Given the description of an element on the screen output the (x, y) to click on. 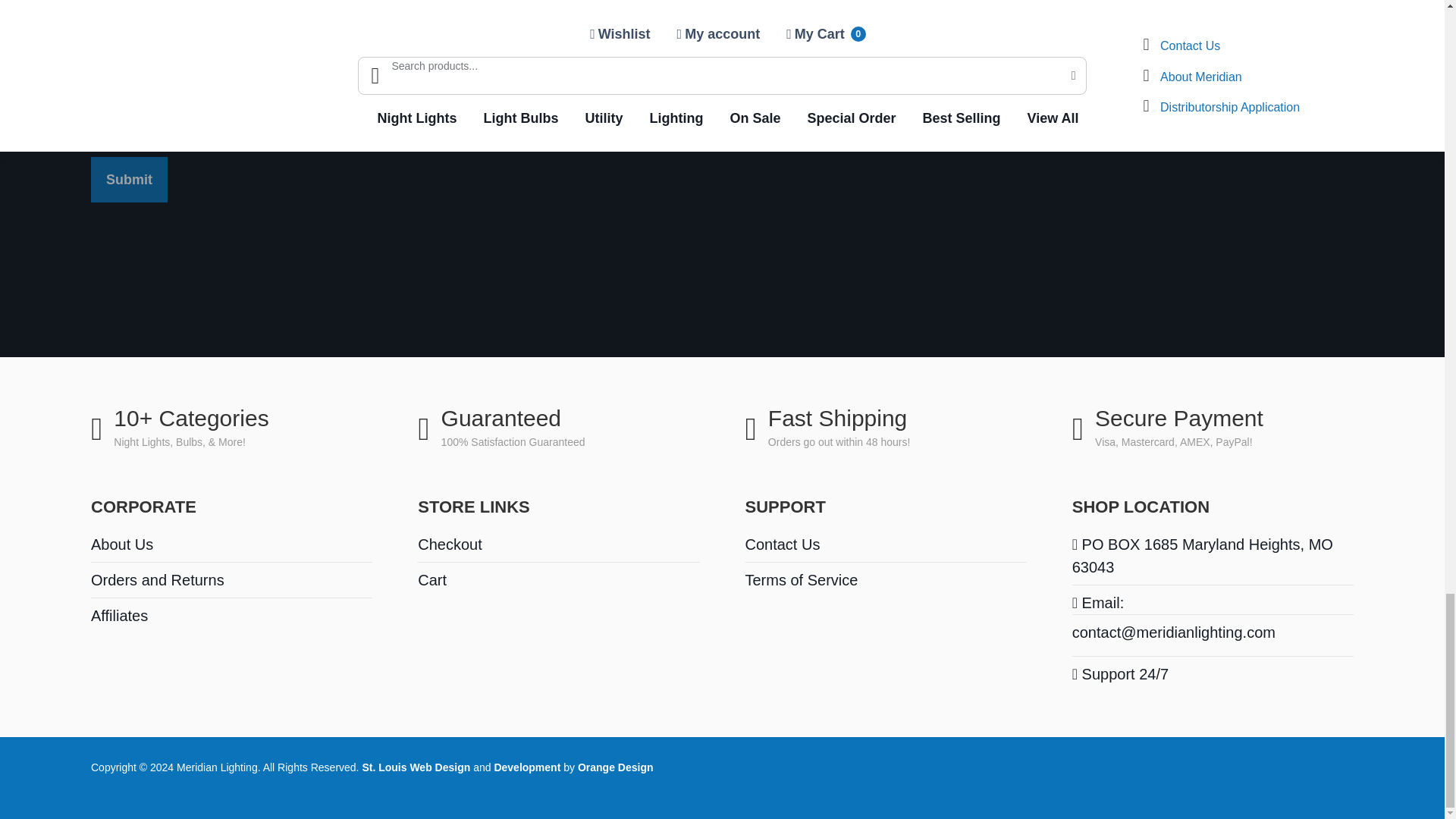
Submit (128, 179)
